Given the description of an element on the screen output the (x, y) to click on. 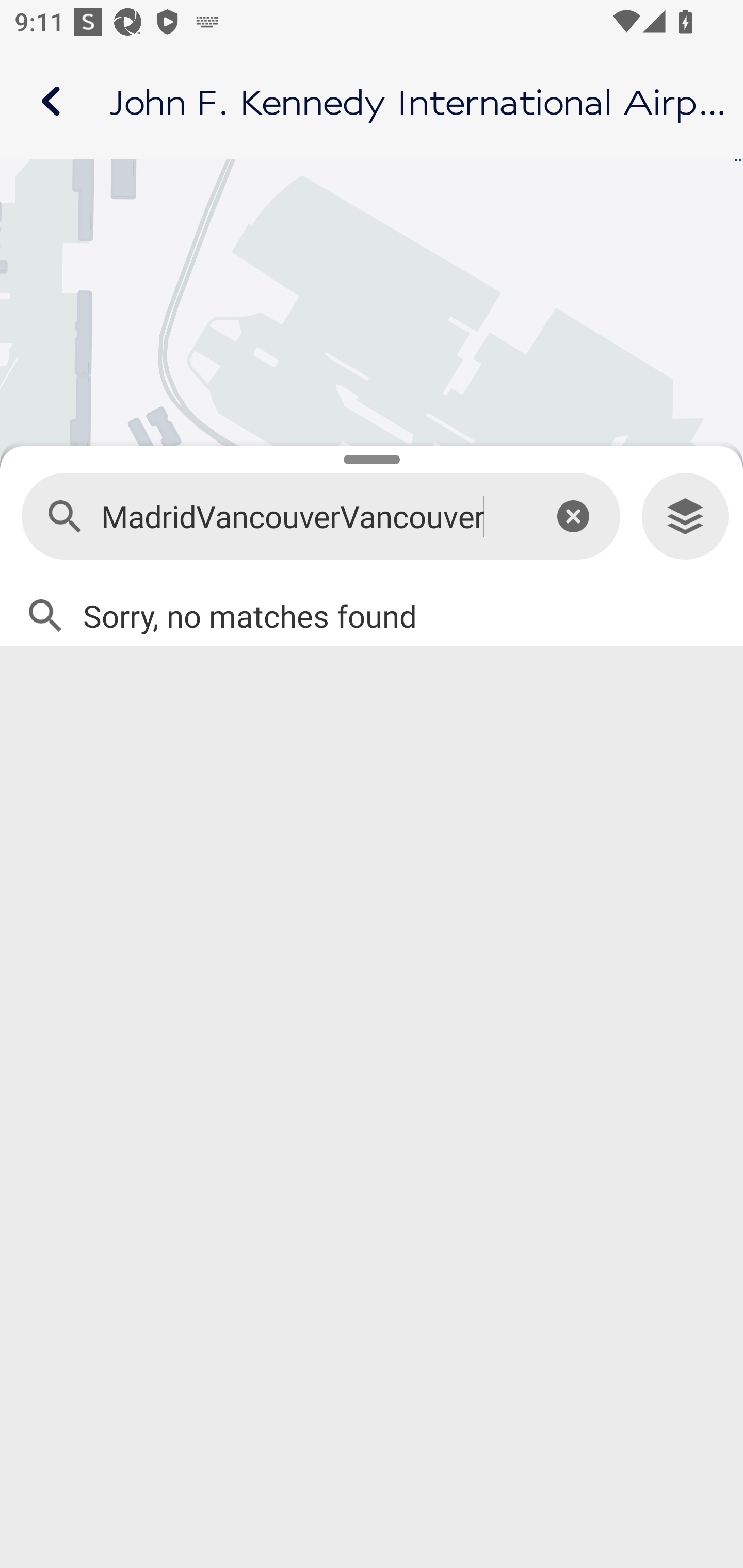
Airport map (371, 100)
MadridVancouverVancouver (311, 516)
Levels (684, 516)
This is an icon for clearing the text field. (573, 515)
